Given the description of an element on the screen output the (x, y) to click on. 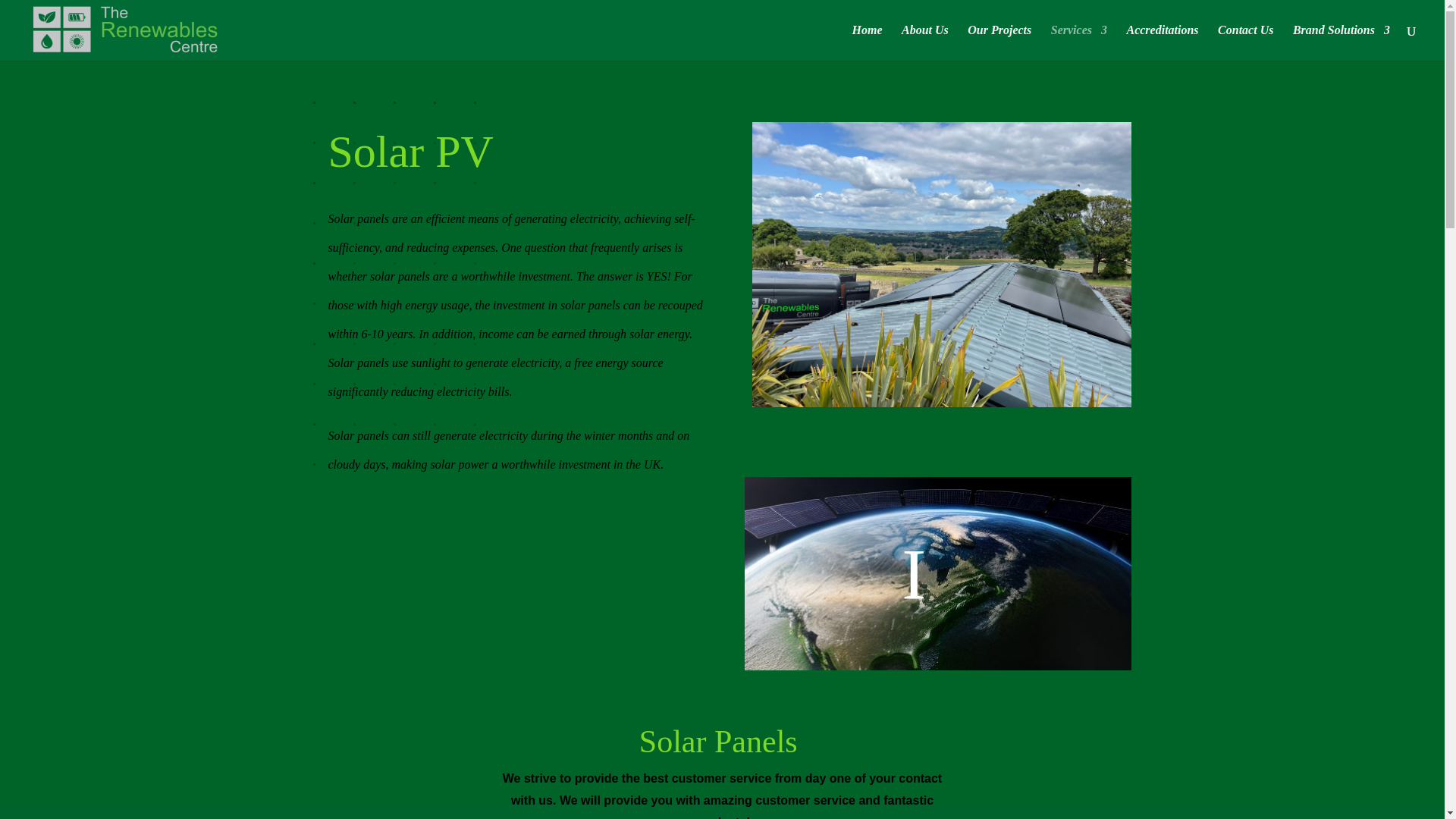
Services (1078, 42)
Our Projects (999, 42)
Brand Solutions (1341, 42)
Contact Us (1244, 42)
Accreditations (1161, 42)
About Us (925, 42)
